Given the description of an element on the screen output the (x, y) to click on. 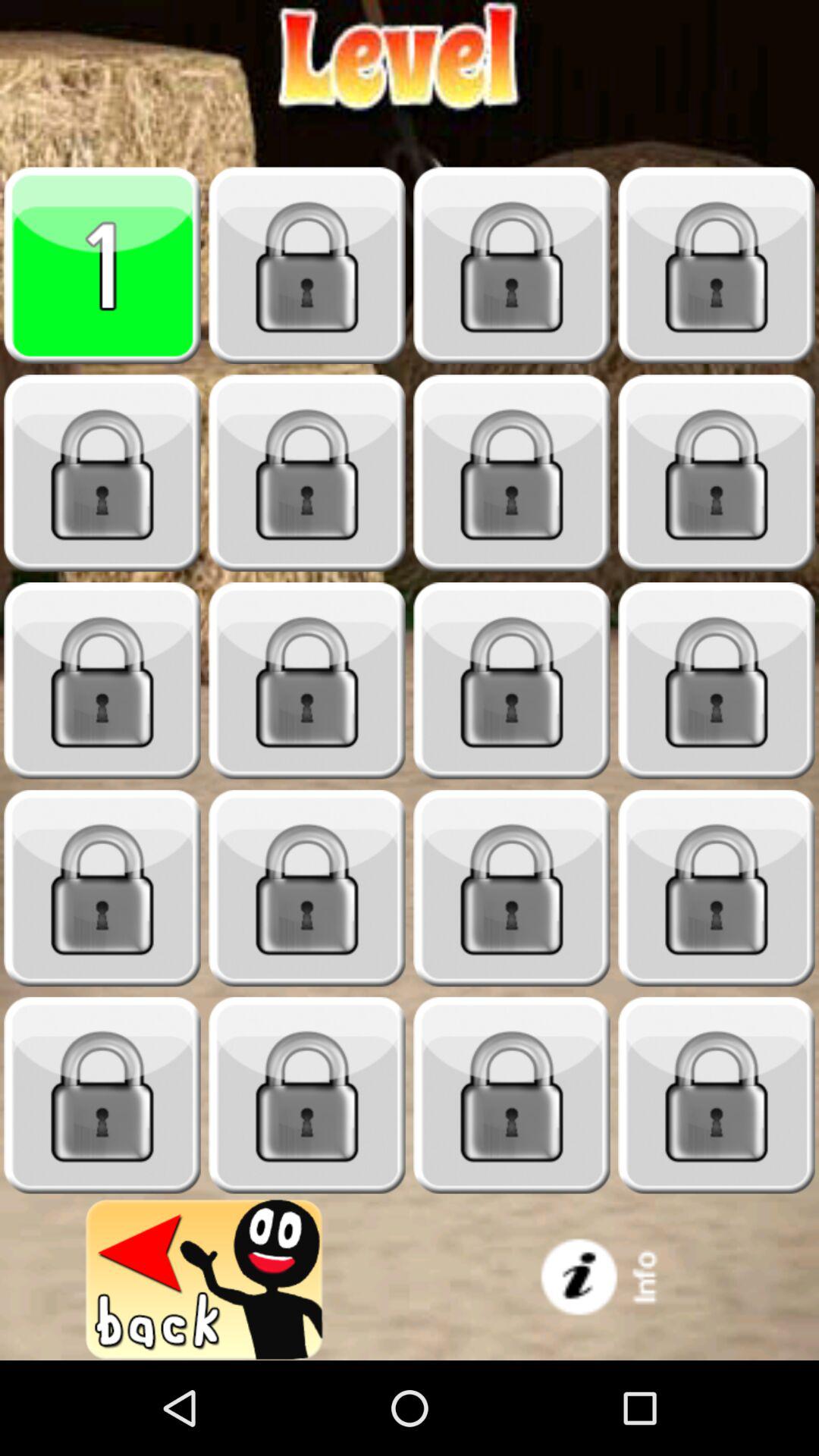
if unlocked it starts the new level (102, 1094)
